Given the description of an element on the screen output the (x, y) to click on. 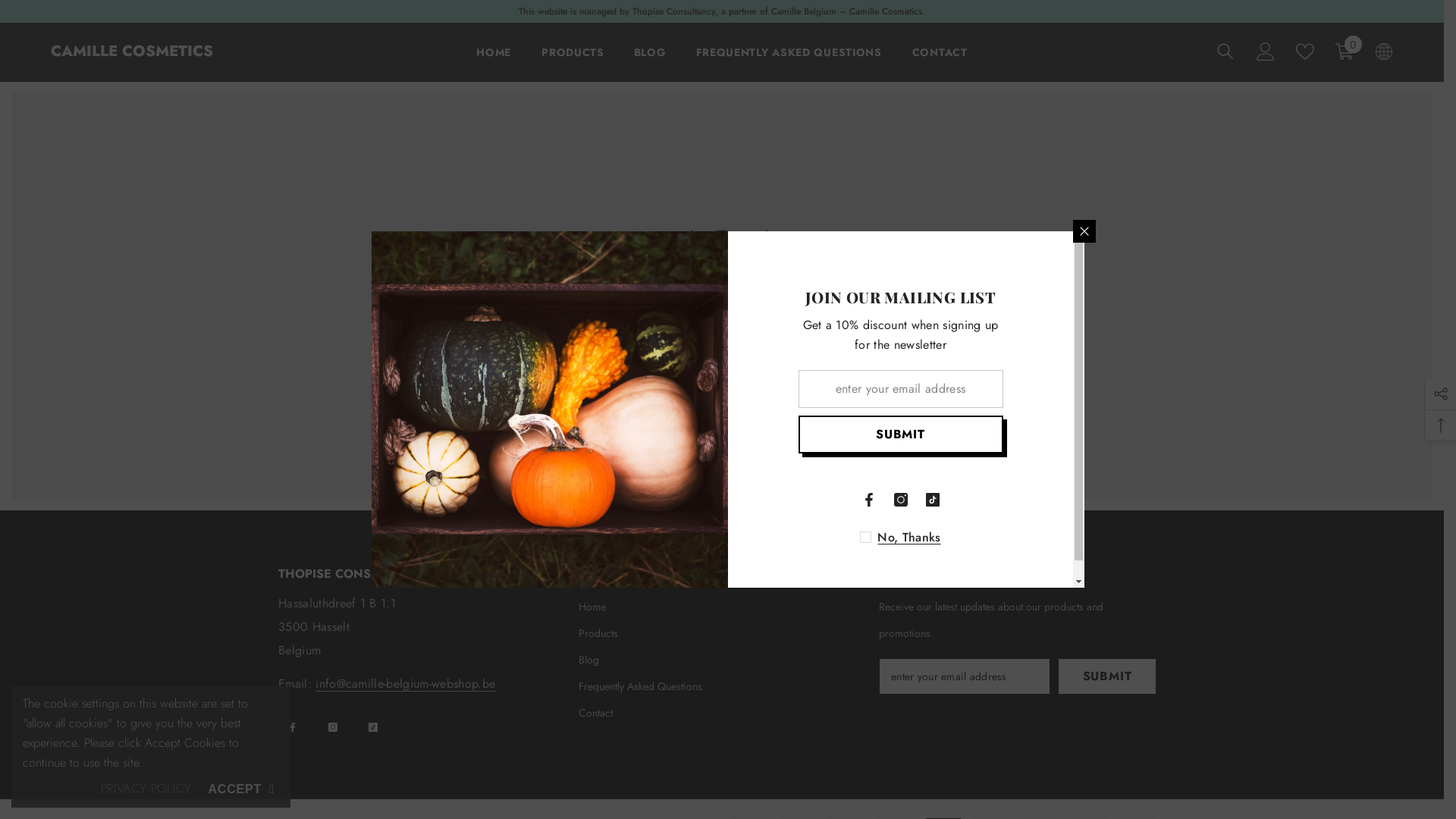
Wish Lists Element type: text (1304, 51)
PRIVACY POLICY Element type: text (145, 788)
Home Element type: text (591, 606)
Contact Element type: text (595, 712)
SUBMIT Element type: text (1106, 676)
SUBMIT Element type: text (899, 434)
TikTok Element type: text (931, 499)
BLOG Element type: text (649, 62)
TikTok Element type: text (372, 726)
Cart
0
0 items Element type: text (1344, 51)
CONTACT Element type: text (939, 62)
info@camille-belgium-webshop.be Element type: text (405, 683)
Instagram Element type: text (900, 499)
CAMILLE COSMETICS Element type: text (131, 51)
HOME Element type: text (493, 62)
Log in Element type: text (1265, 51)
FREQUENTLY ASKED QUESTIONS Element type: text (788, 62)
Products Element type: text (598, 633)
Blog Element type: text (588, 659)
PRODUCTS Element type: text (572, 62)
Facebook Element type: text (868, 499)
Instagram Element type: text (332, 726)
Facebook Element type: text (292, 726)
Frequently Asked Questions Element type: text (640, 686)
Return to Store Element type: text (721, 375)
